Given the description of an element on the screen output the (x, y) to click on. 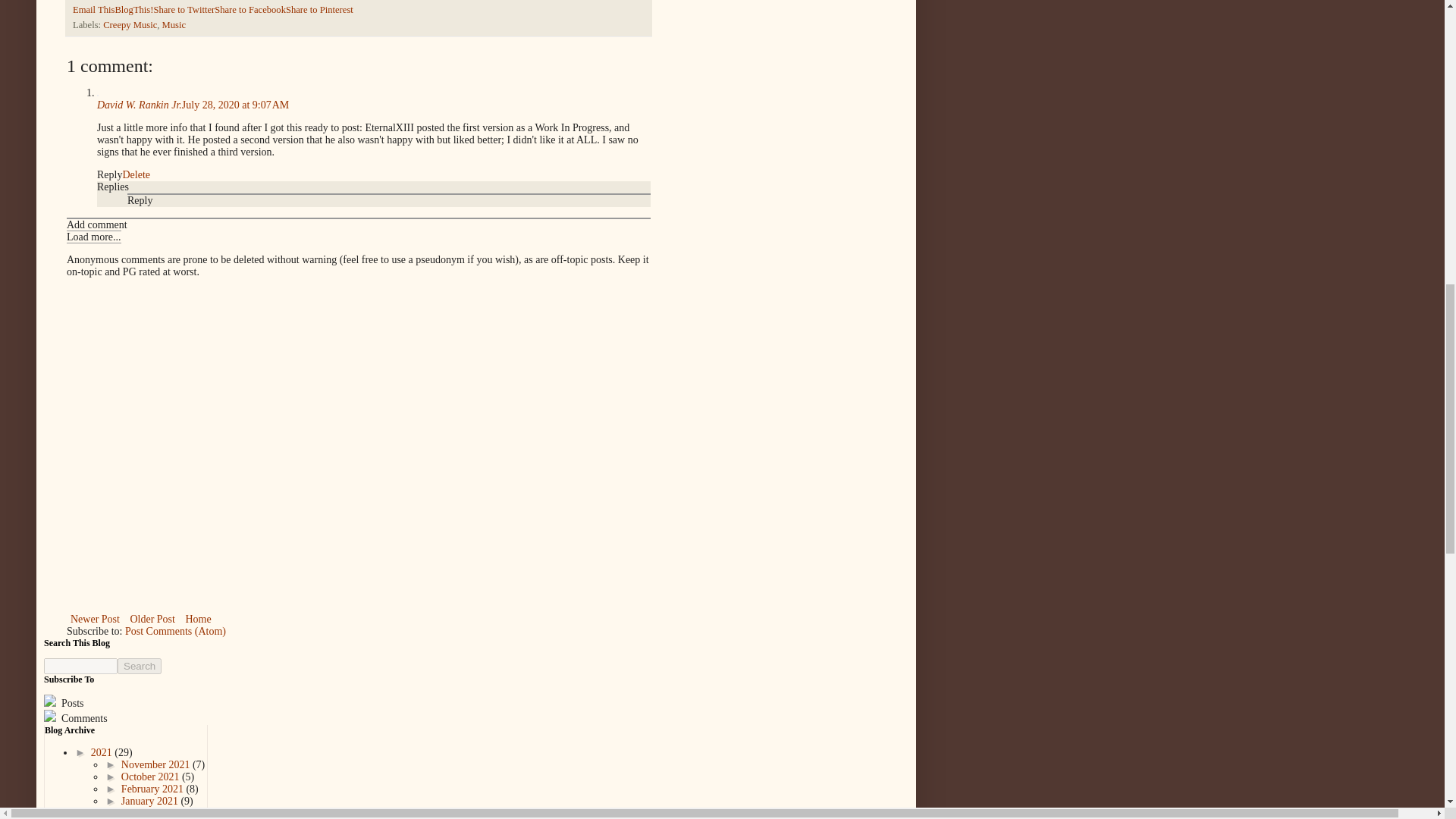
Share to Twitter (183, 9)
Reply (109, 174)
Delete (135, 174)
Share to Facebook (249, 9)
Music (173, 24)
Share to Pinterest (319, 9)
Creepy Music (130, 24)
search (80, 666)
Share to Pinterest (319, 9)
Home (197, 618)
Search (139, 666)
Newer Post (94, 618)
Search (139, 666)
BlogThis! (133, 9)
Email This (93, 9)
